Given the description of an element on the screen output the (x, y) to click on. 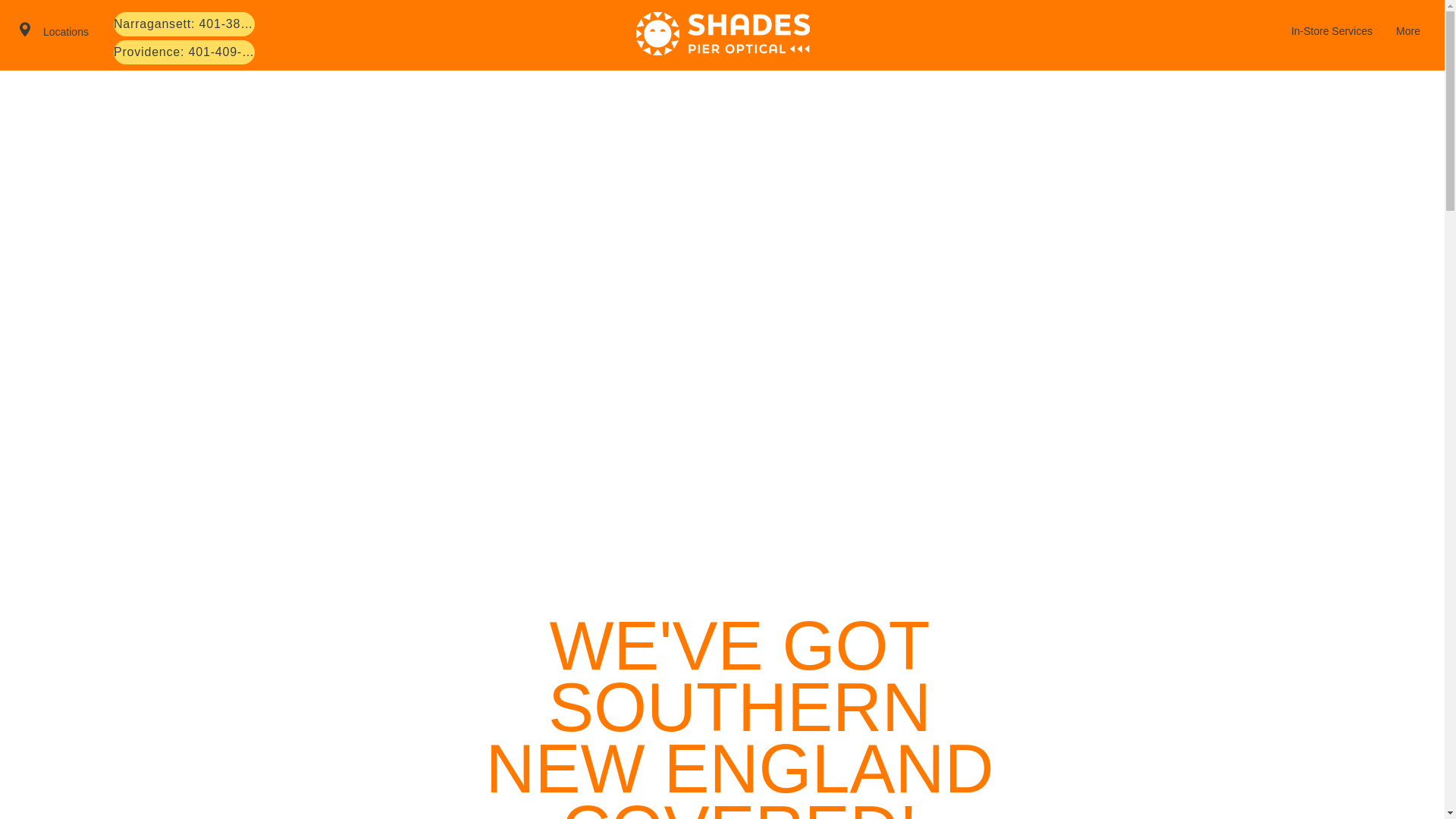
In-Store Services (1331, 30)
Narragansett: 401-388-6193 (183, 24)
Locations (65, 31)
Providence: 401-409-4992 (183, 52)
